Given the description of an element on the screen output the (x, y) to click on. 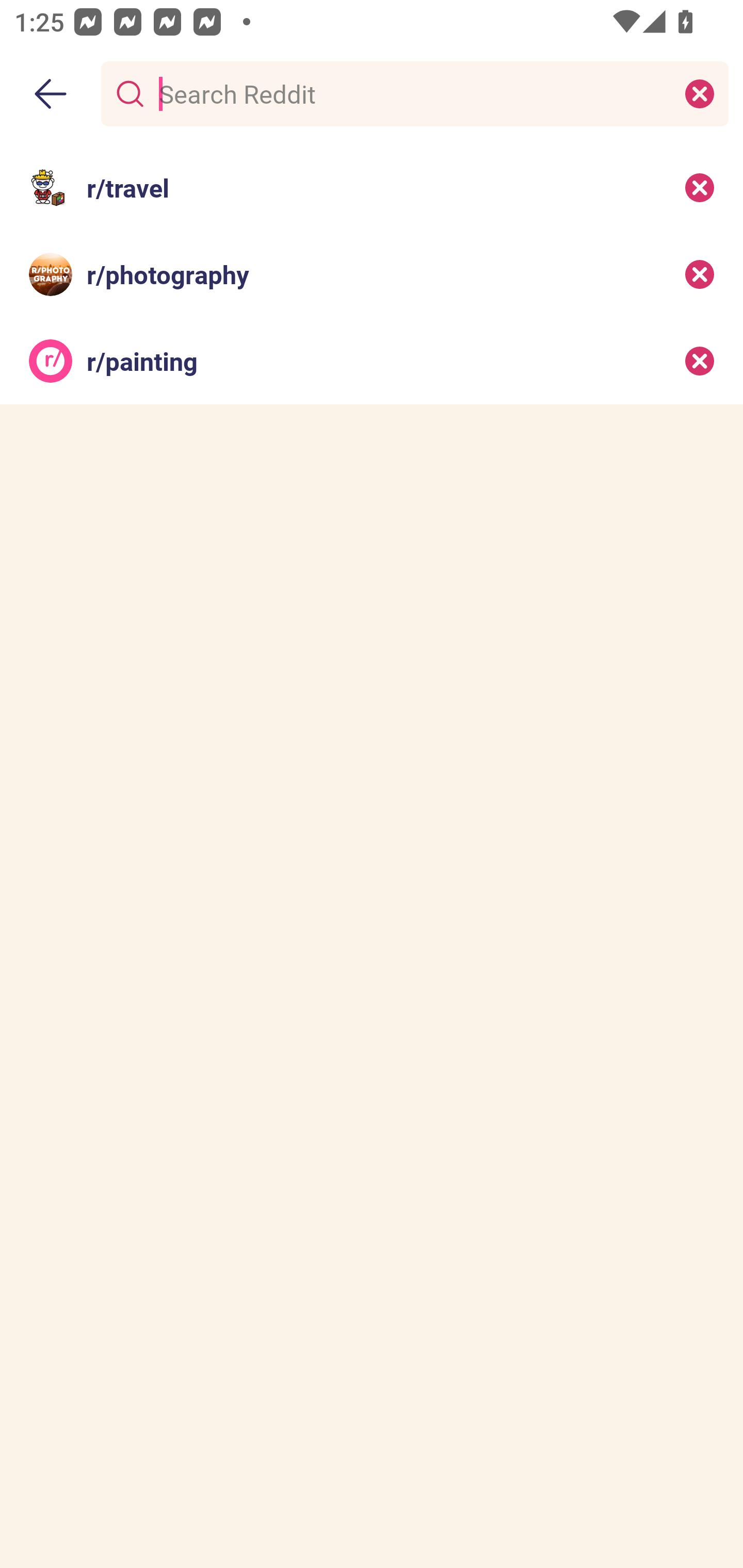
Back (50, 93)
Search Reddit (410, 93)
Clear search (699, 93)
r/travel Recent search: r/travel Remove (371, 187)
Remove (699, 187)
r/photography Recent search: r/photography Remove (371, 274)
Remove (699, 274)
r/painting Recent search: r/painting Remove (371, 361)
Remove (699, 361)
